Given the description of an element on the screen output the (x, y) to click on. 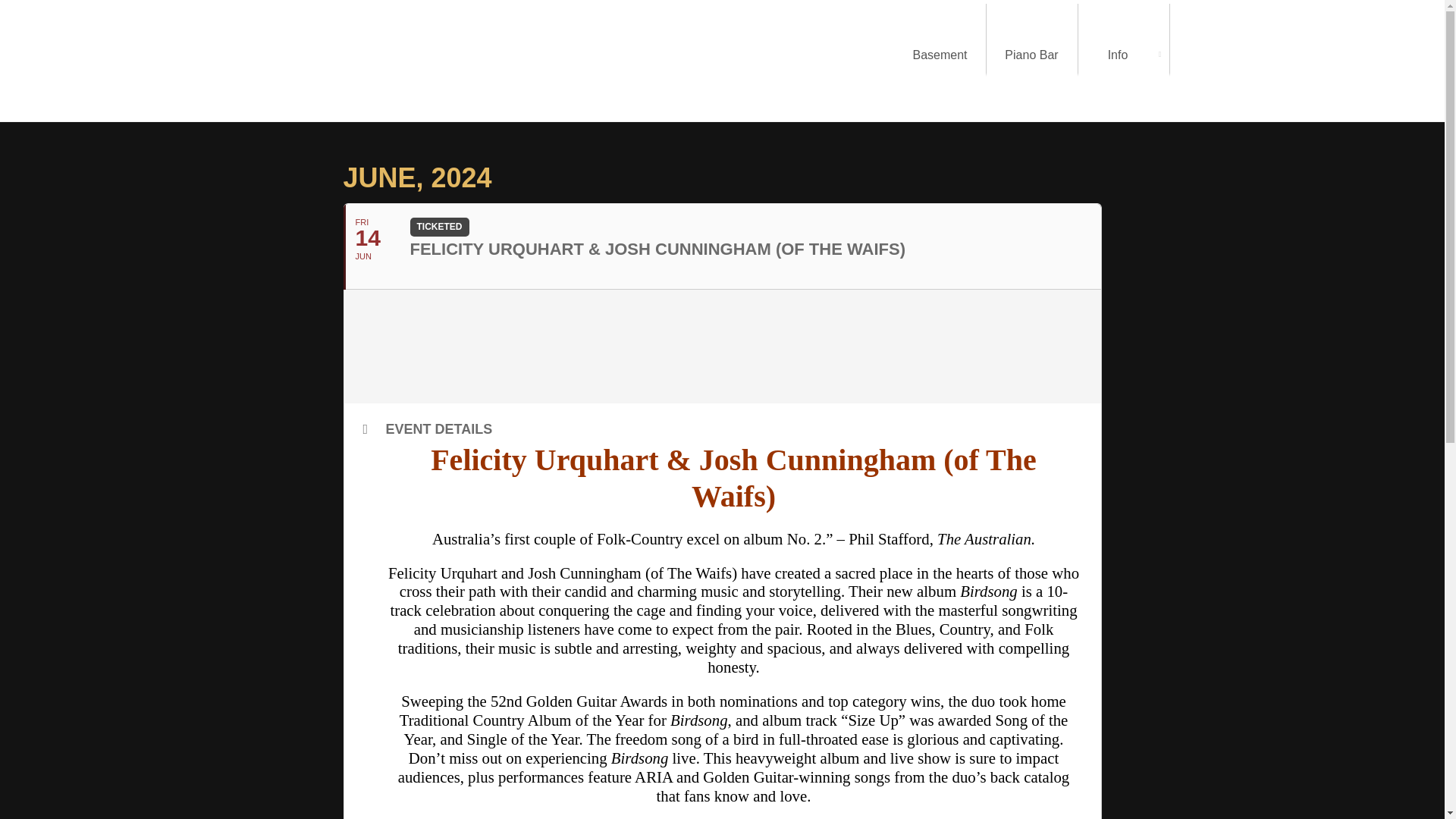
Info (1123, 54)
Piano Bar (1031, 54)
Basement (940, 54)
